Given the description of an element on the screen output the (x, y) to click on. 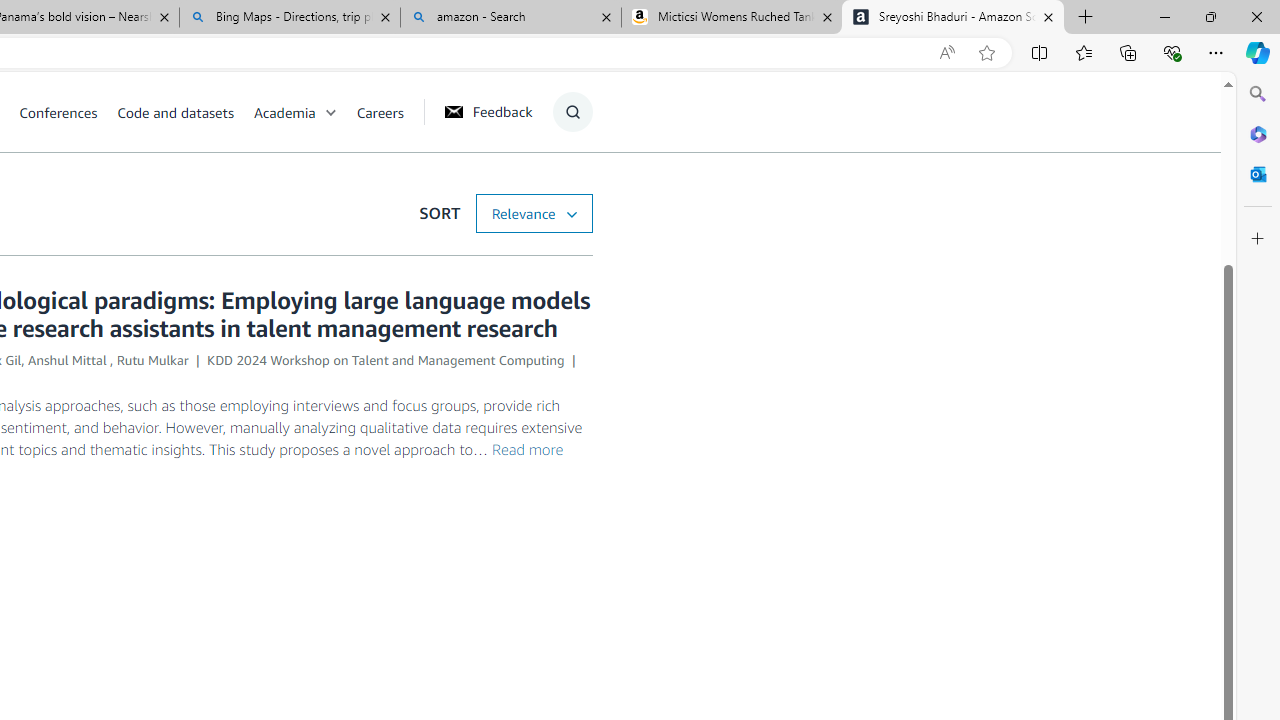
New Tab (1085, 17)
Restore (1210, 16)
Add this page to favorites (Ctrl+D) (986, 53)
Split screen (1039, 52)
Conferences (68, 111)
Customize (1258, 239)
Browser essentials (1171, 52)
KDD 2024 Workshop on Talent and Management Computing (385, 360)
Copilot (Ctrl+Shift+.) (1258, 52)
